Given the description of an element on the screen output the (x, y) to click on. 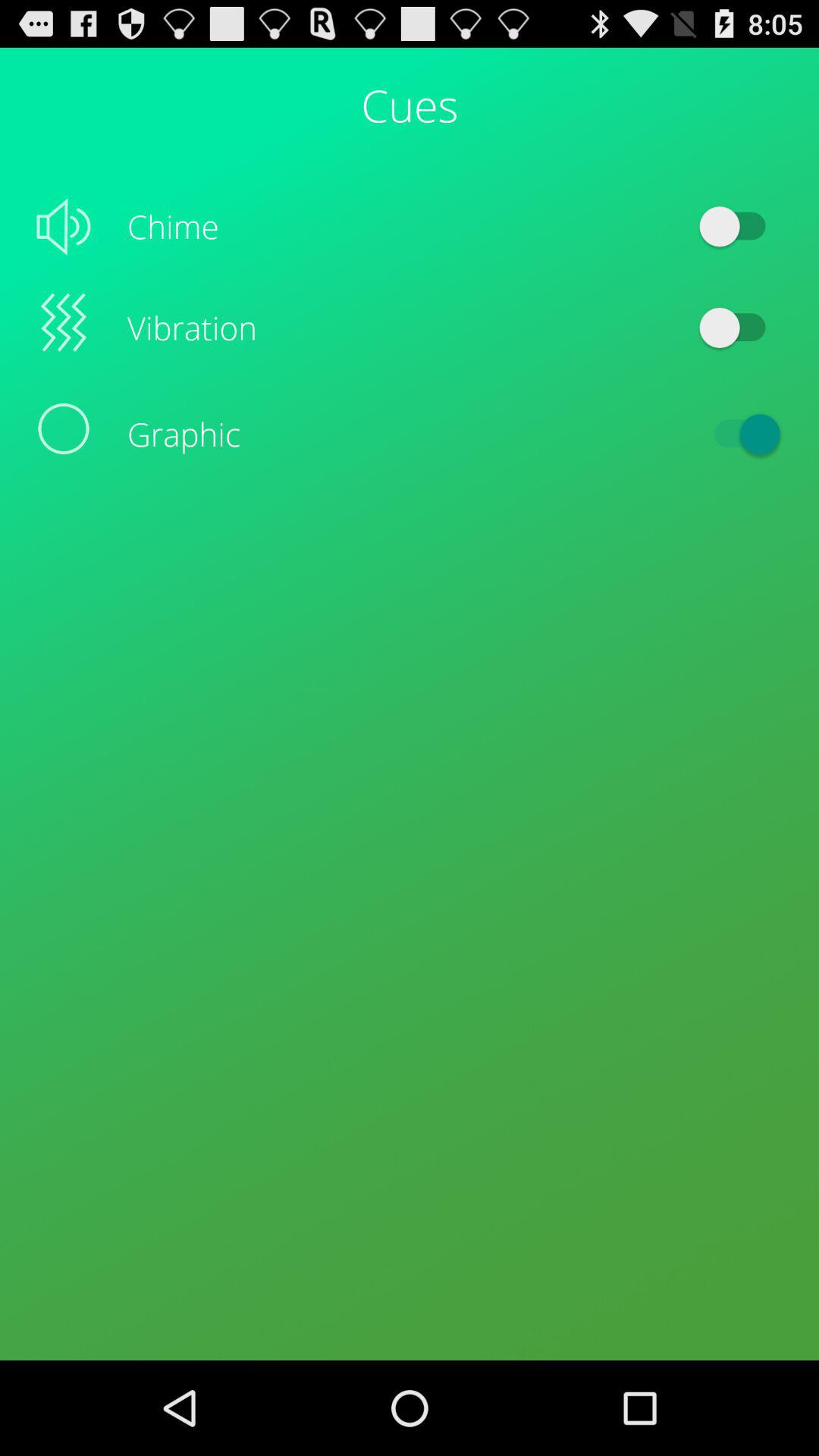
click item to the right of graphic (739, 434)
